Given the description of an element on the screen output the (x, y) to click on. 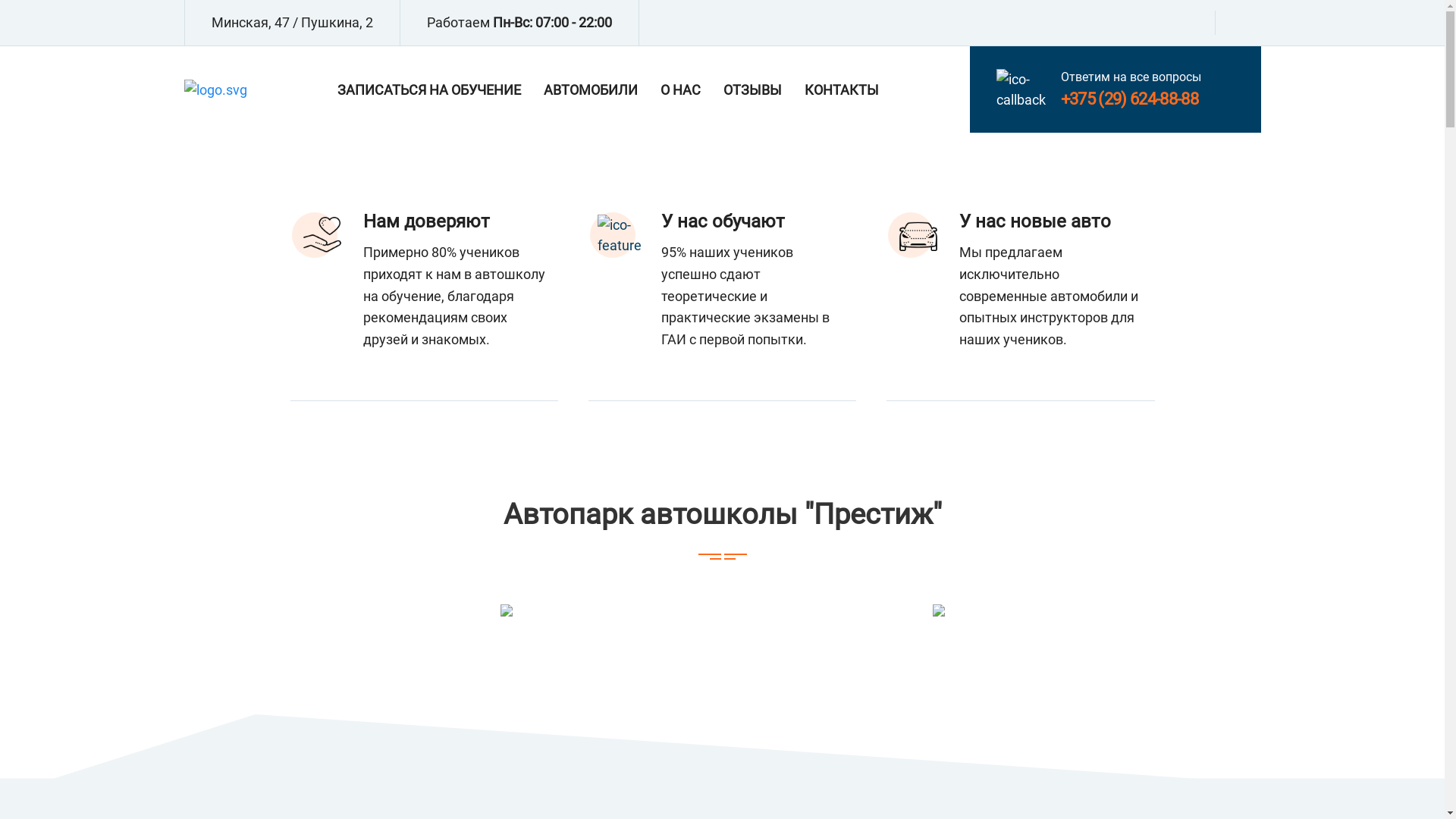
logo.svg Element type: hover (214, 89)
